Given the description of an element on the screen output the (x, y) to click on. 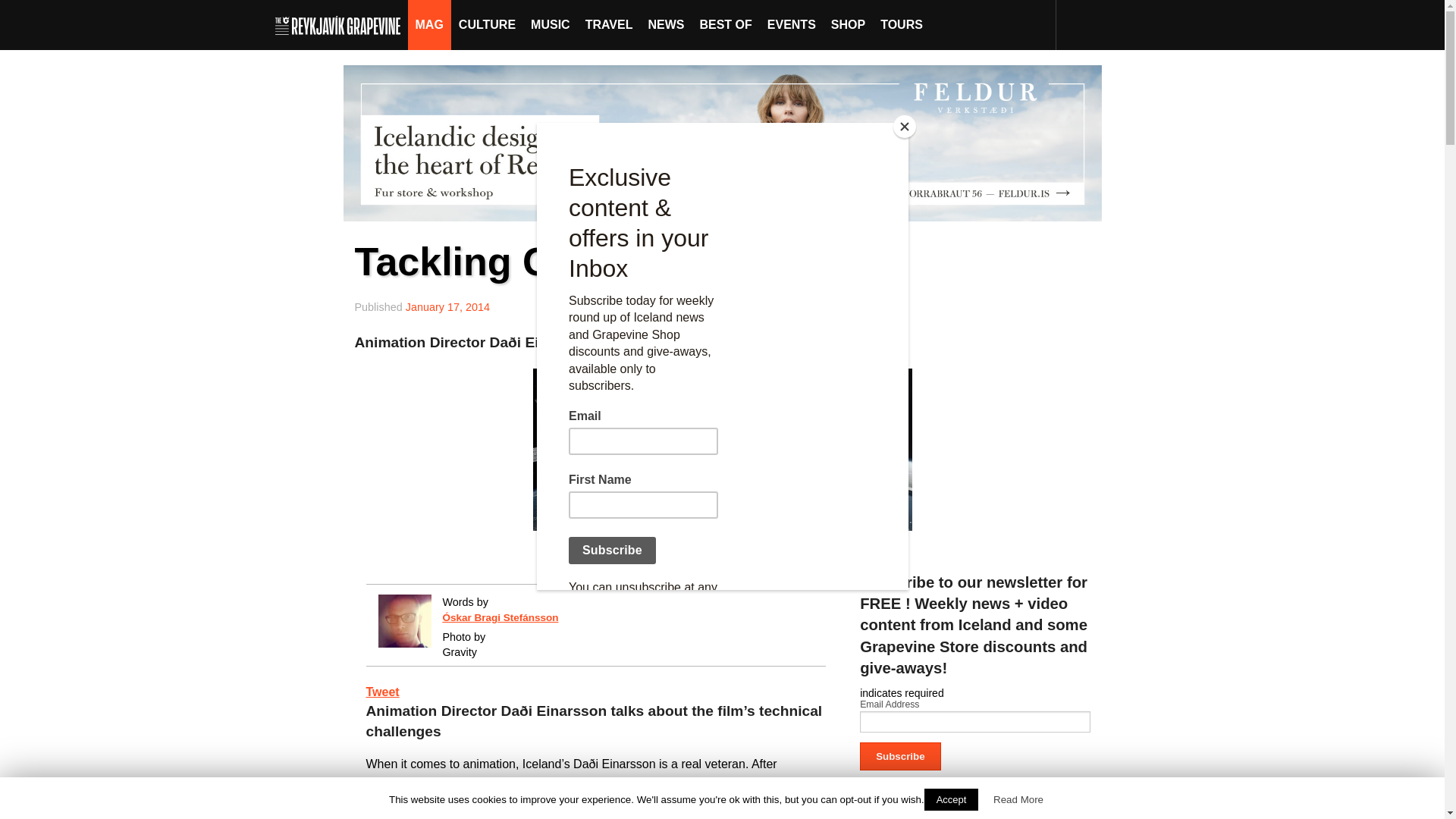
EVENTS (792, 24)
NEWS (665, 24)
MUSIC (550, 24)
Tweet (381, 691)
SHOP (848, 24)
TOURS (901, 24)
Subscribe (900, 756)
The Reykjavik Grapevine (341, 24)
TRAVEL (609, 24)
CULTURE (486, 24)
BEST OF (724, 24)
